Given the description of an element on the screen output the (x, y) to click on. 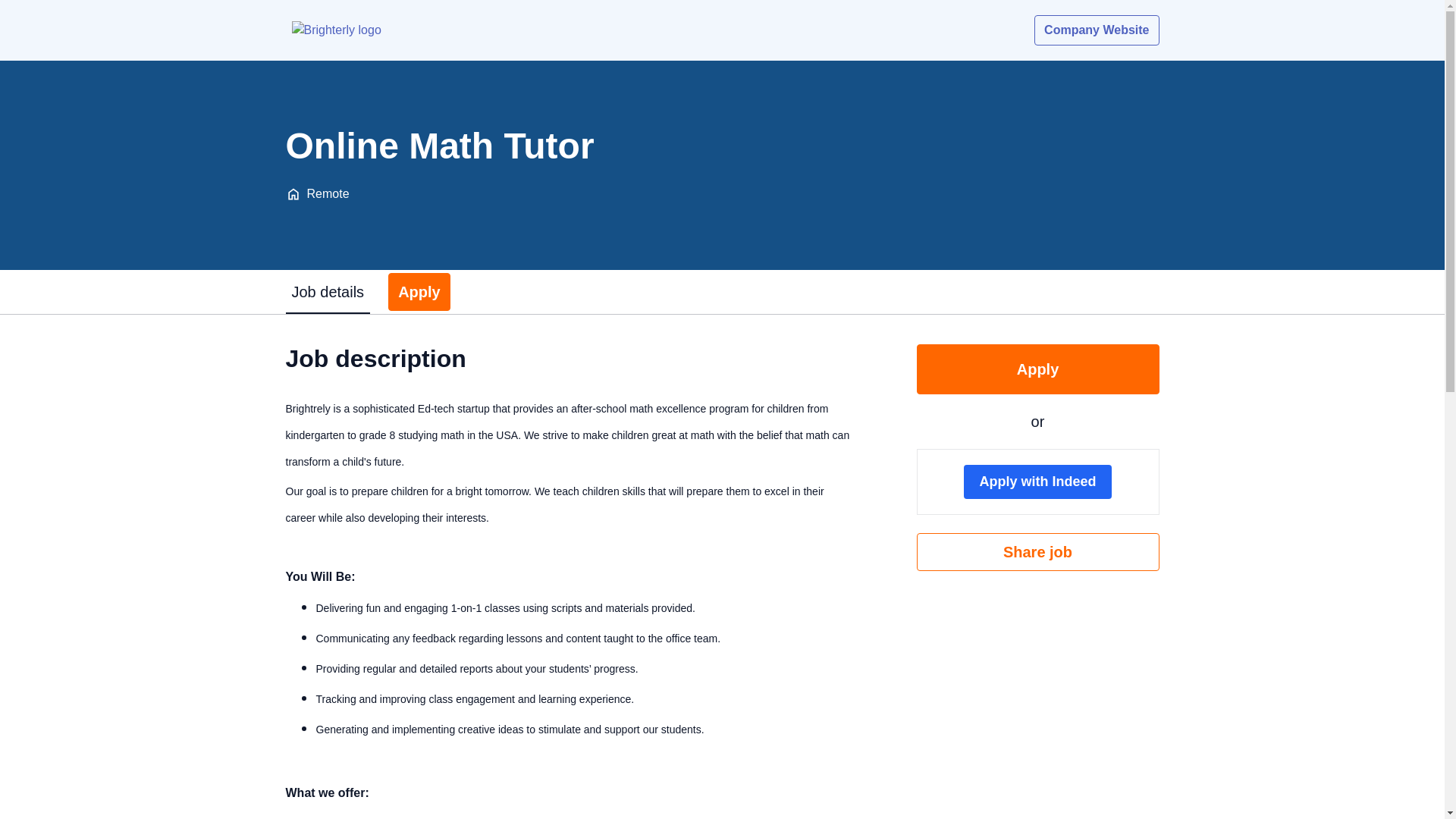
Apply (418, 291)
Homepage (336, 30)
Company Website (1095, 30)
Apply (1036, 368)
Job details (327, 291)
Apply with Indeed (1036, 481)
Share job (1036, 551)
